Given the description of an element on the screen output the (x, y) to click on. 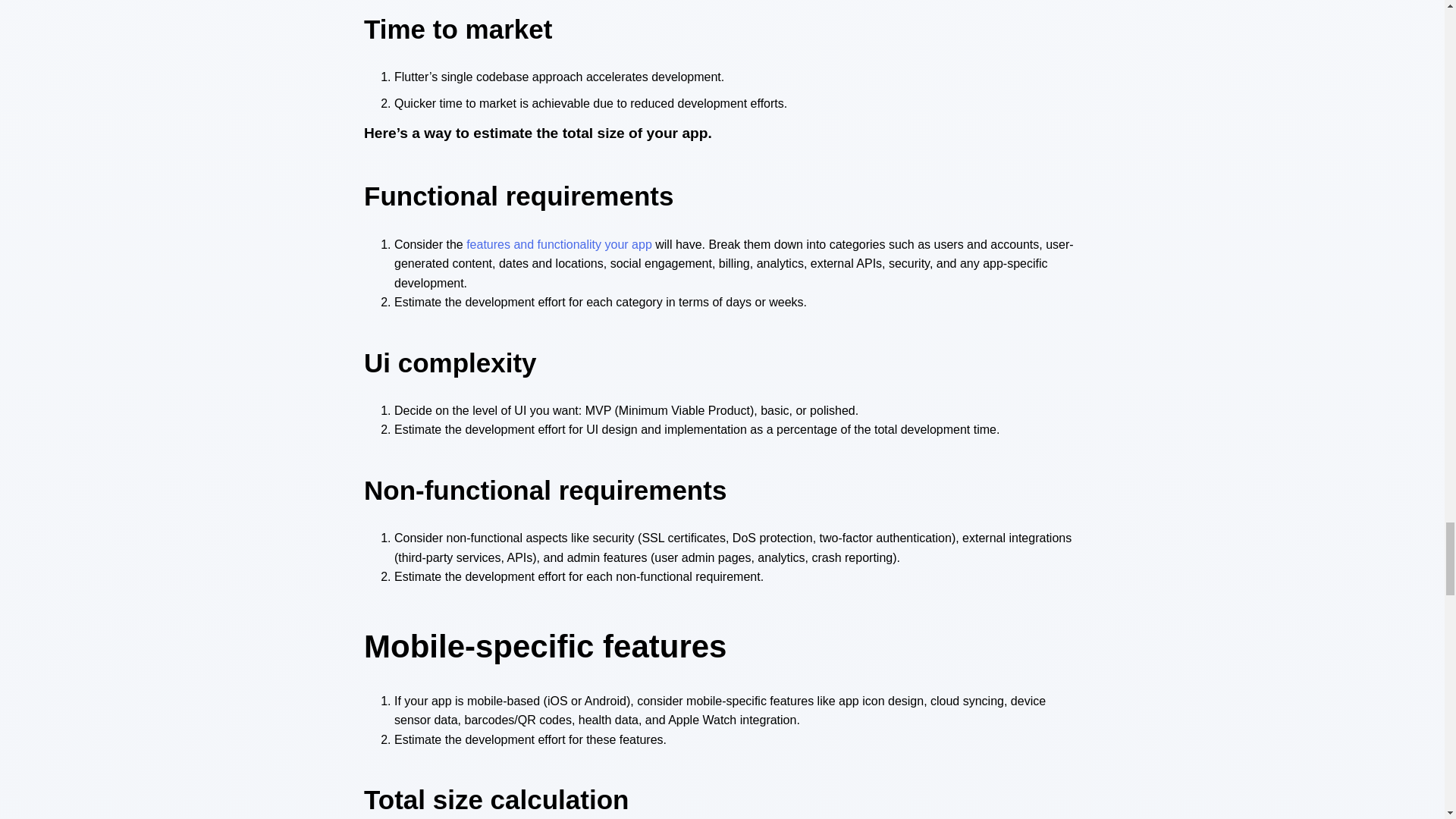
features and functionality your app (558, 244)
